Given the description of an element on the screen output the (x, y) to click on. 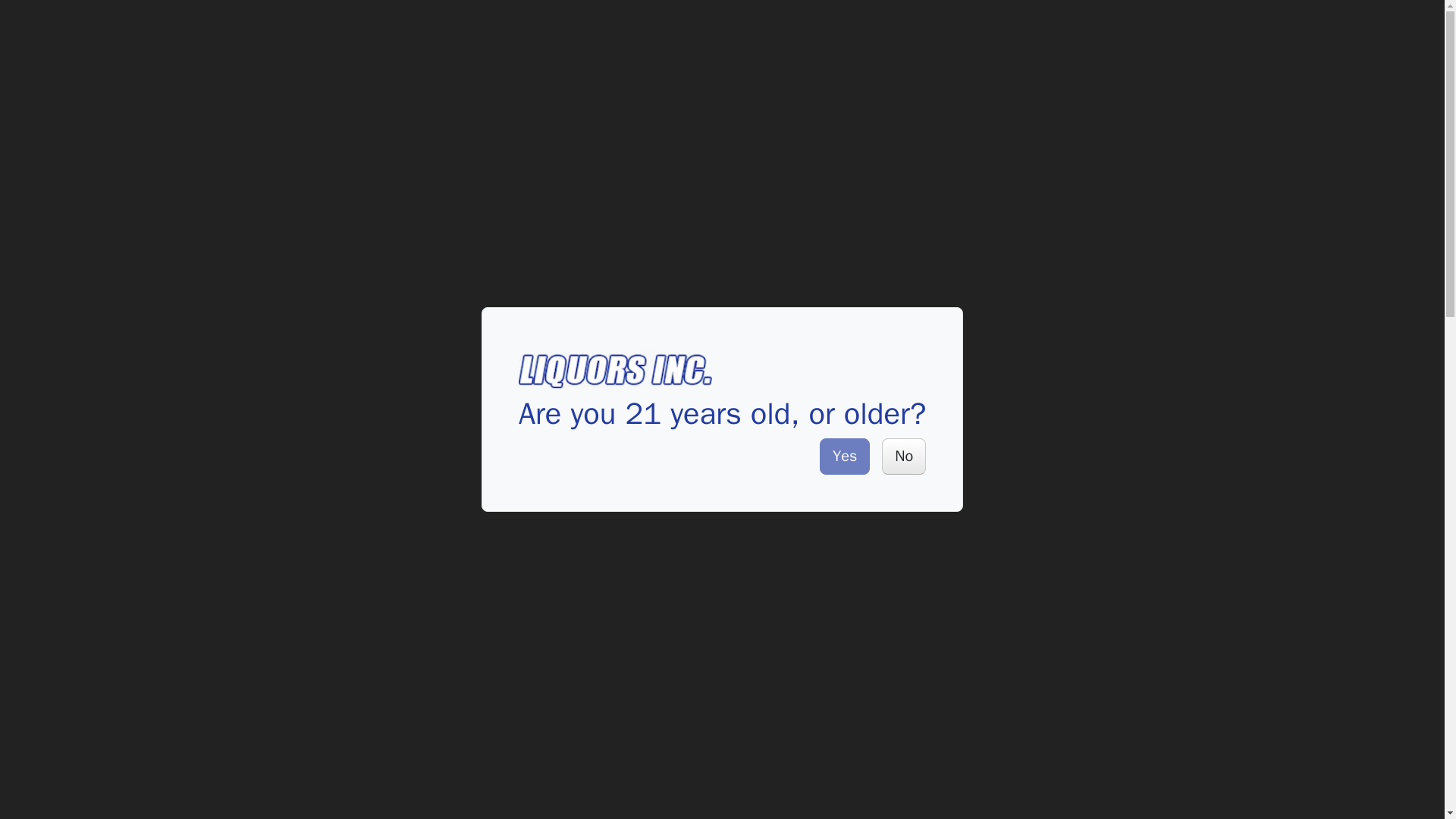
Wine Advocate 95 point rating. (962, 173)
Jeb Dunnuck 96 point rating. (861, 173)
Decanter 93 point rating. (1056, 173)
Wine Enthusiast 94-96 point rating. (788, 642)
Wine (196, 28)
James Suckling 94 point rating. (1012, 173)
Vinous 96 point rating. (815, 173)
Wine Spectator 95 point rating. (911, 173)
Vinous 96 point rating. (713, 725)
Wine Enthusiast 94-96 point rating. (761, 173)
